Given the description of an element on the screen output the (x, y) to click on. 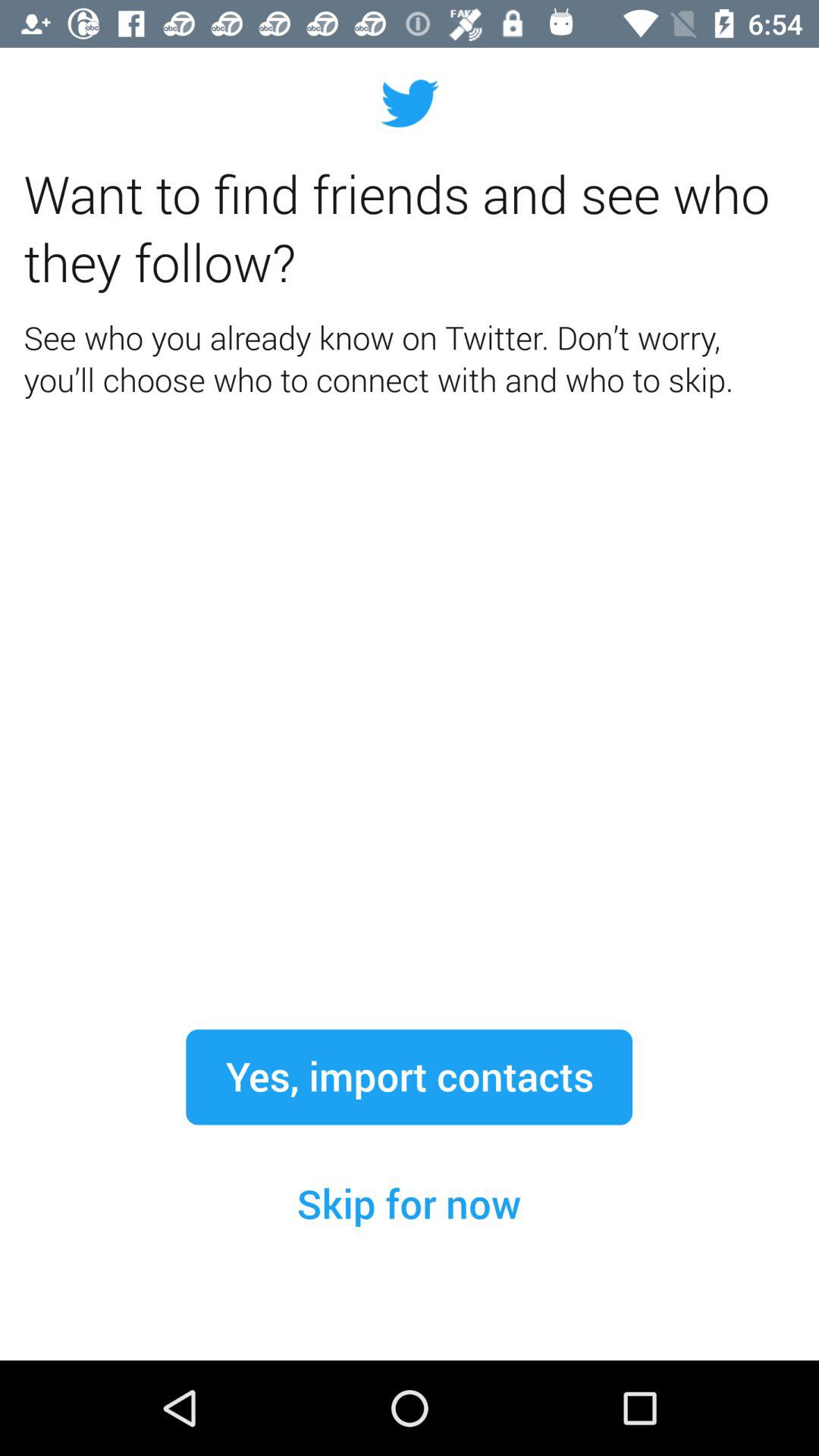
scroll until the skip for now icon (408, 1204)
